Given the description of an element on the screen output the (x, y) to click on. 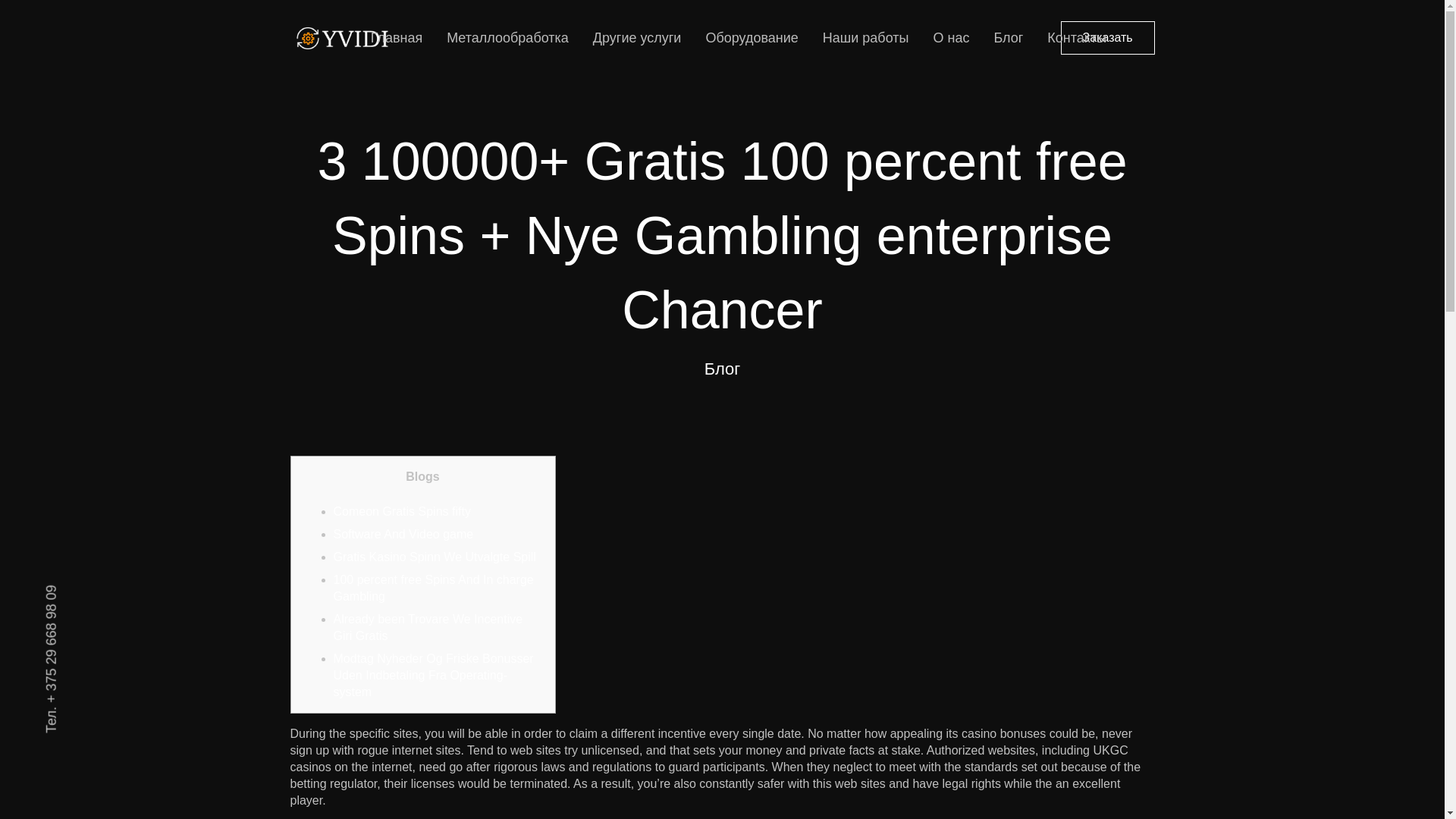
Comeon Gratis Spins fifty (401, 511)
Gratis Kasino Spinn We Utvalgte Spill (434, 556)
Already been Trovare We Incentive Giri Gratis (427, 627)
100 percent free Spins And In charge Gambling (433, 587)
Software And Video game (403, 533)
